Given the description of an element on the screen output the (x, y) to click on. 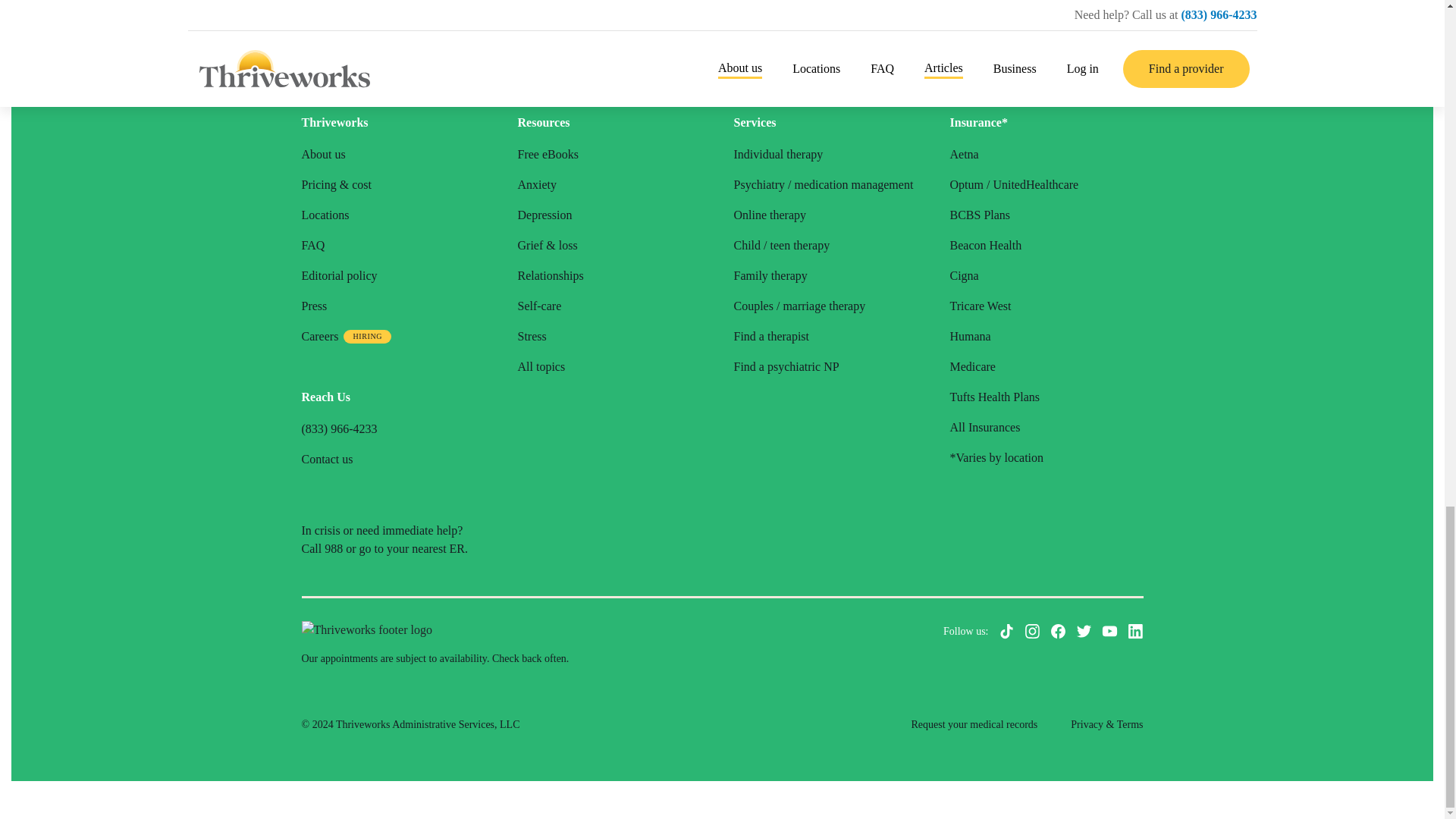
Sign me up (823, 24)
